Given the description of an element on the screen output the (x, y) to click on. 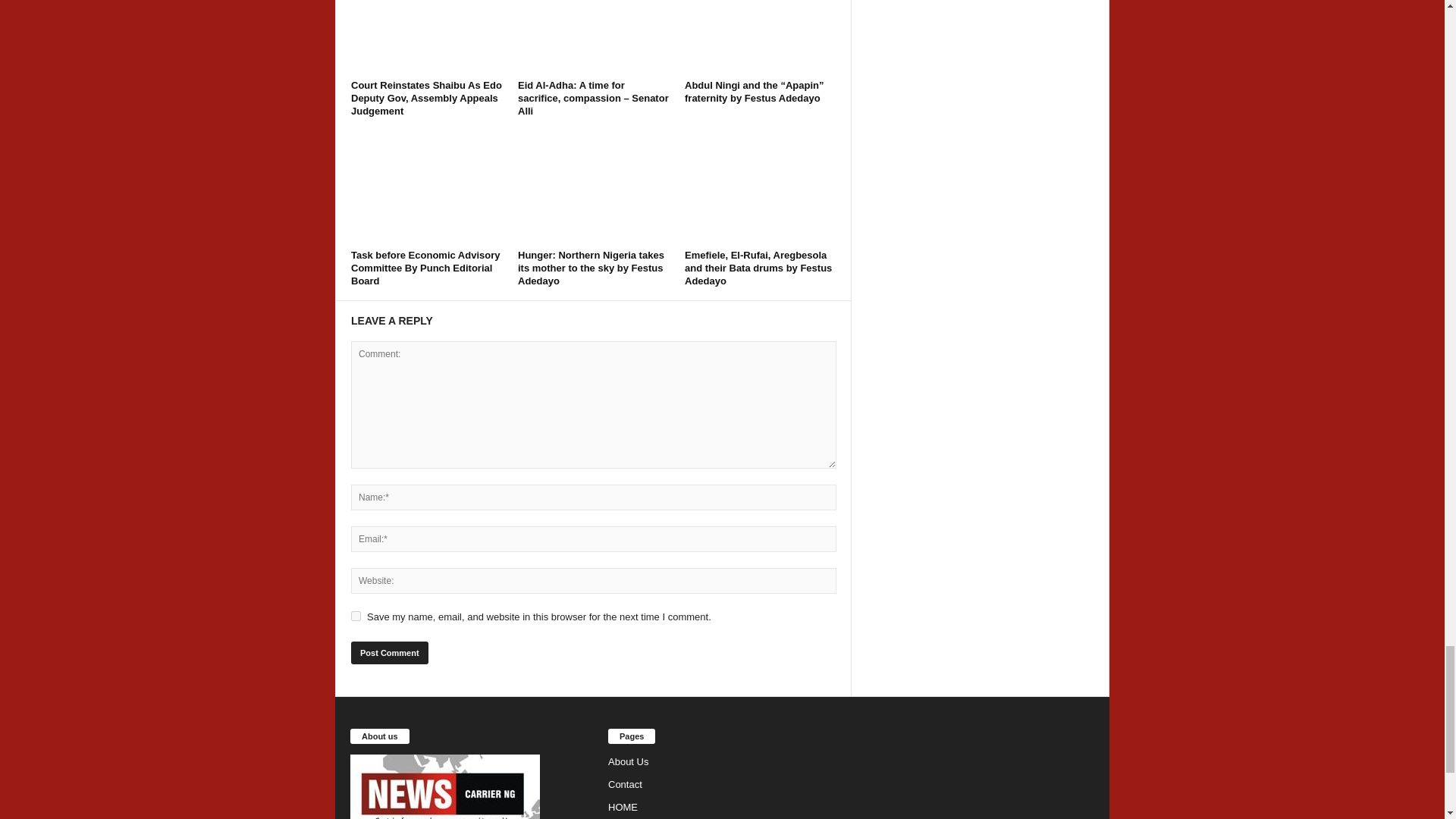
Post Comment (389, 652)
yes (355, 615)
